Given the description of an element on the screen output the (x, y) to click on. 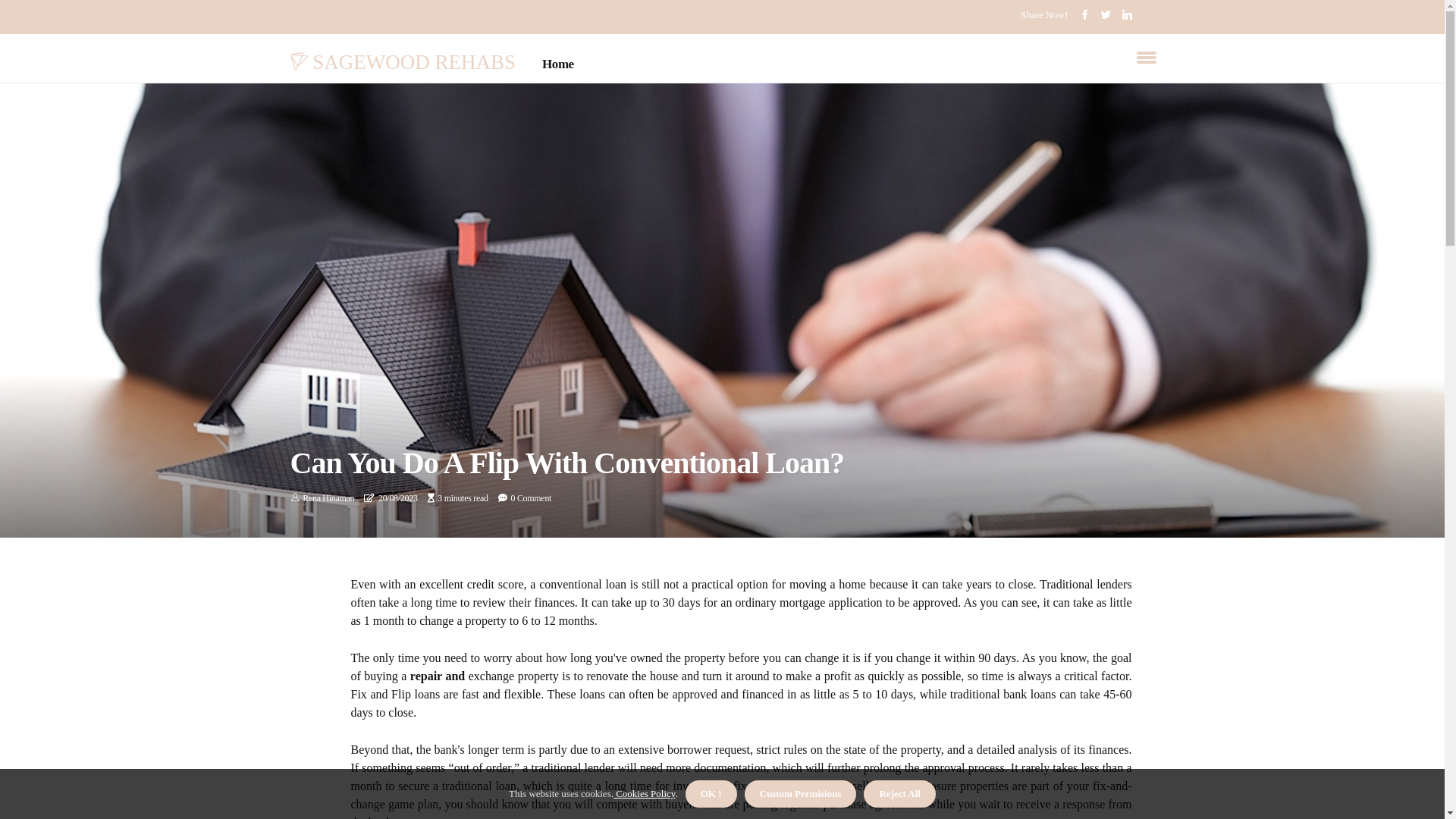
Cookies Policy Element type: text (644, 793)
0 Comment Element type: text (530, 497)
Rena Hinaman Element type: text (328, 497)
SAGEWOOD REHABS Element type: text (402, 60)
Home Element type: text (558, 64)
